Given the description of an element on the screen output the (x, y) to click on. 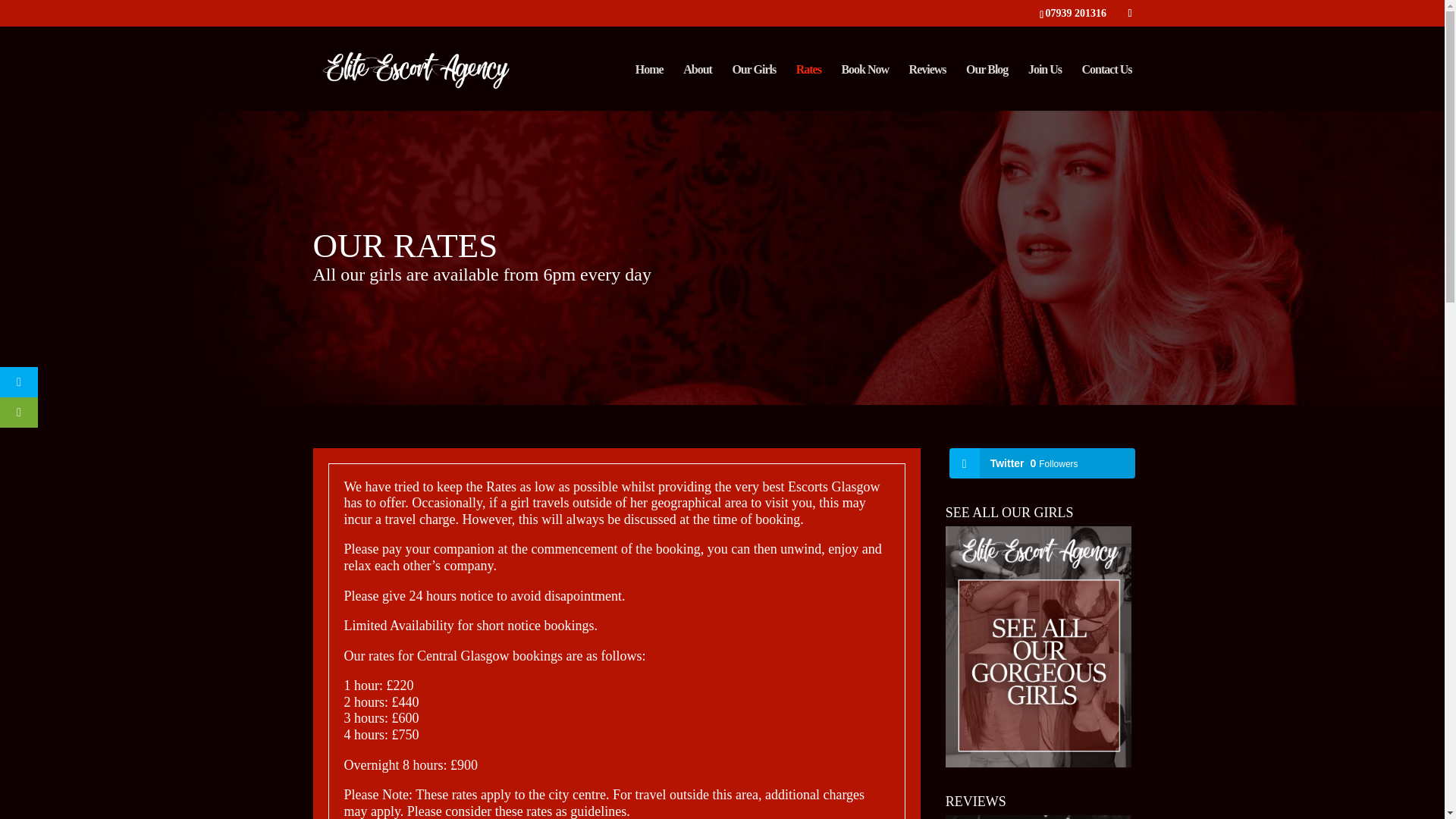
Contact Us (1106, 87)
Book Now (864, 87)
Twitter 0 Followers (1042, 462)
Our Blog (986, 87)
Our Girls (754, 87)
